Given the description of an element on the screen output the (x, y) to click on. 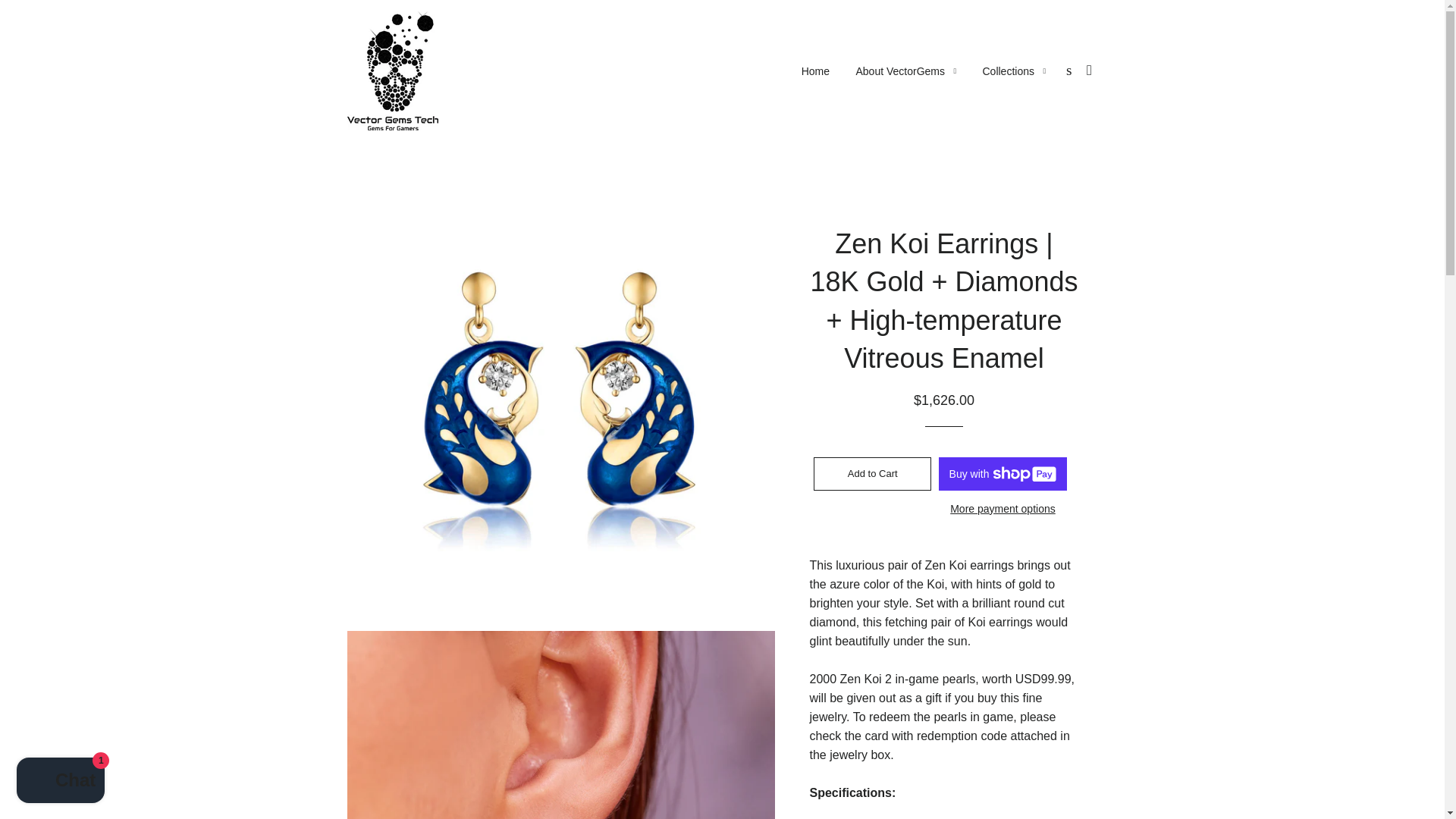
Home (815, 71)
Shopify online store chat (60, 781)
More payment options (1003, 509)
Collections (1014, 71)
Add to Cart (872, 473)
About VectorGems (906, 71)
